Given the description of an element on the screen output the (x, y) to click on. 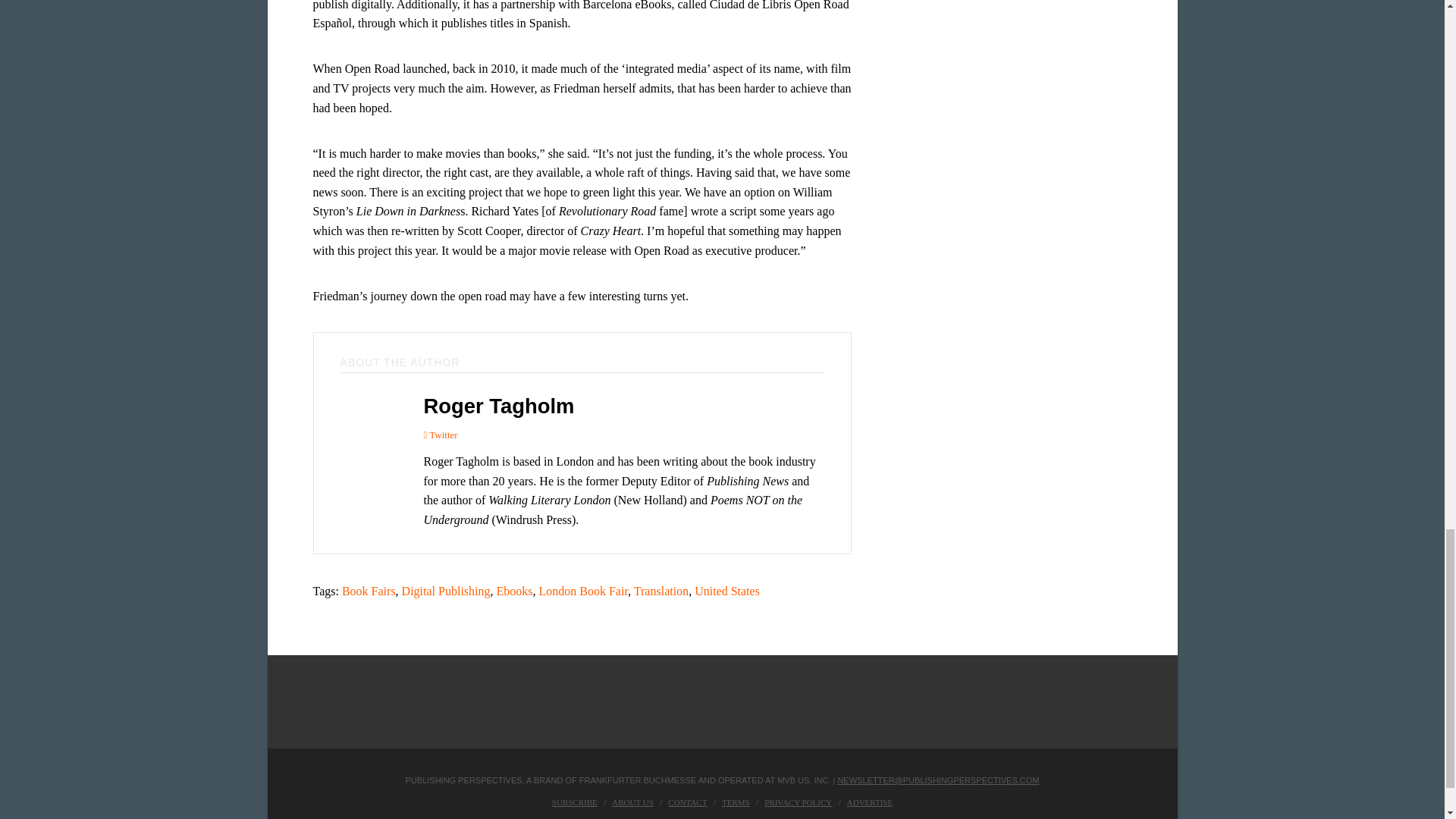
London Book Fair (583, 590)
Digital Publishing (445, 590)
Twitter (440, 434)
Book Fairs (369, 590)
Translation (660, 590)
Subscribe to Publishing Perspectives (573, 801)
Ebooks (514, 590)
Terms and Conditions (735, 801)
Visit the Twitter Profile for Roger Tagholm (440, 434)
